Given the description of an element on the screen output the (x, y) to click on. 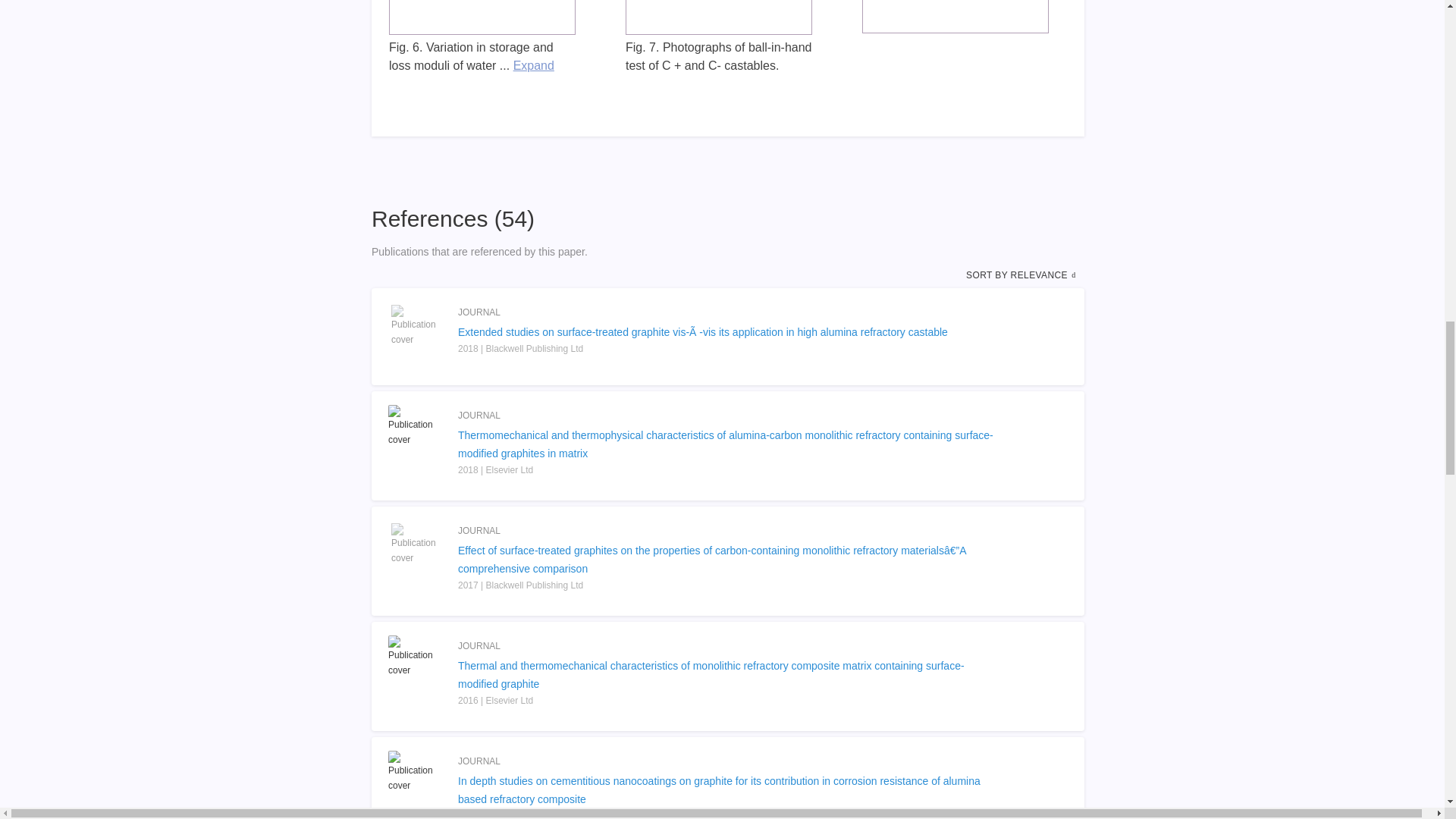
Publication cover (415, 772)
Publication cover (415, 425)
SORT BY RELEVANCE (1022, 274)
Publication cover (415, 656)
